Given the description of an element on the screen output the (x, y) to click on. 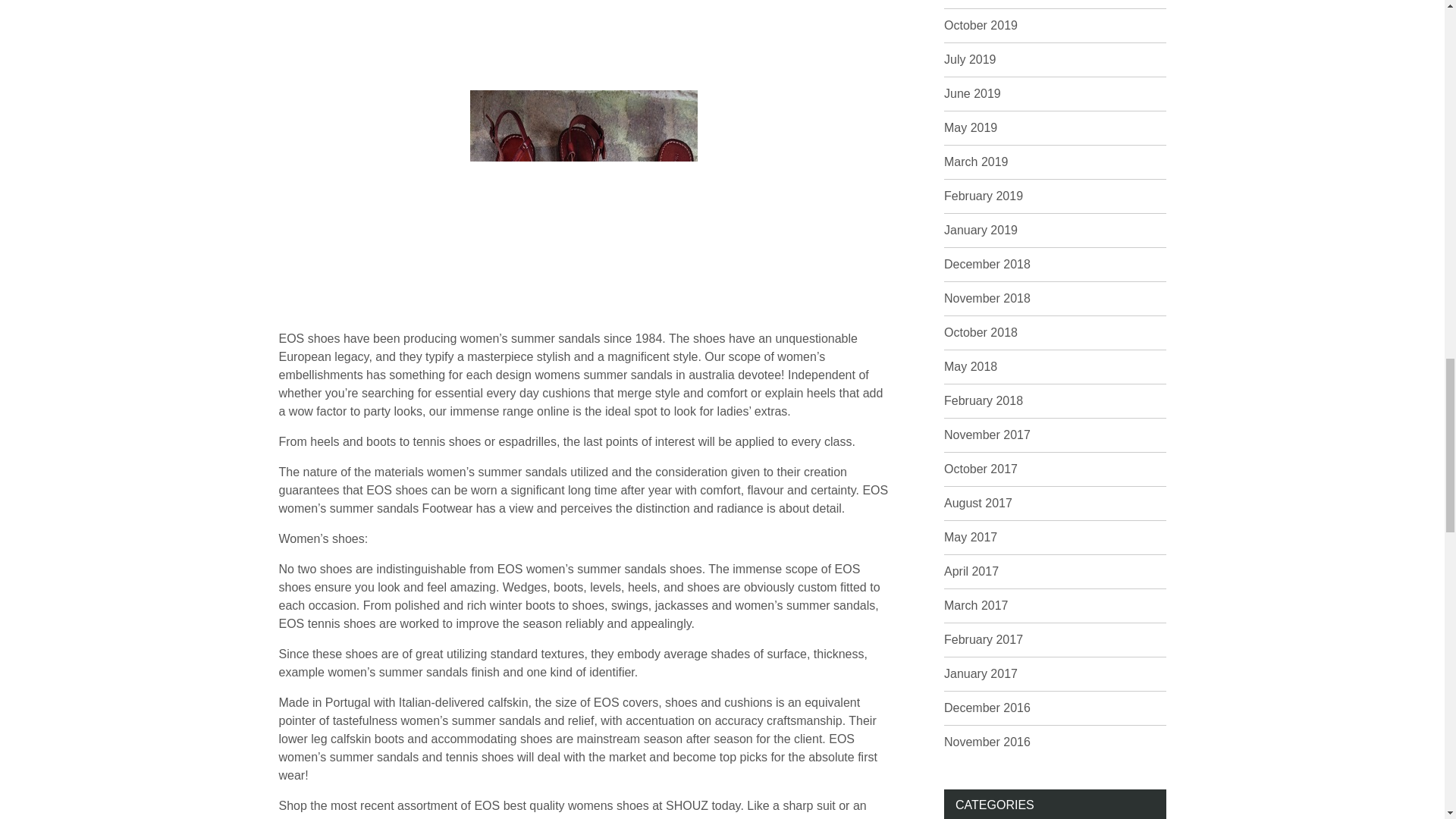
womens summer sandals (583, 203)
